Given the description of an element on the screen output the (x, y) to click on. 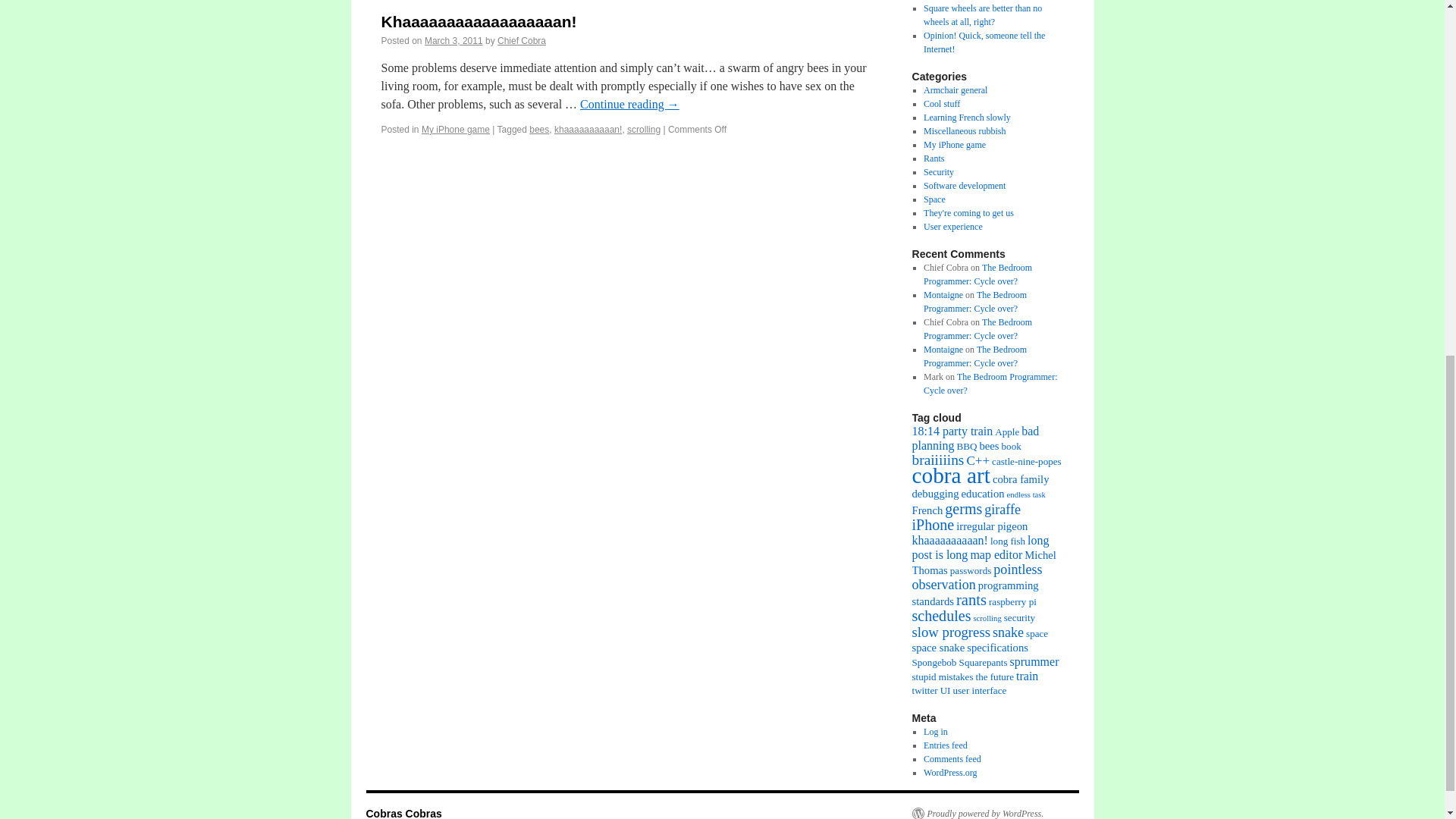
Chief Cobra (521, 40)
View all posts by Chief Cobra (521, 40)
Khaaaaaaaaaaaaaaaaaan! (478, 21)
March 3, 2011 (454, 40)
12:29 pm (454, 40)
scrolling (644, 129)
Permalink to Khaaaaaaaaaaaaaaaaaan! (478, 21)
khaaaaaaaaaan! (587, 129)
My iPhone game (455, 129)
bees (538, 129)
